Given the description of an element on the screen output the (x, y) to click on. 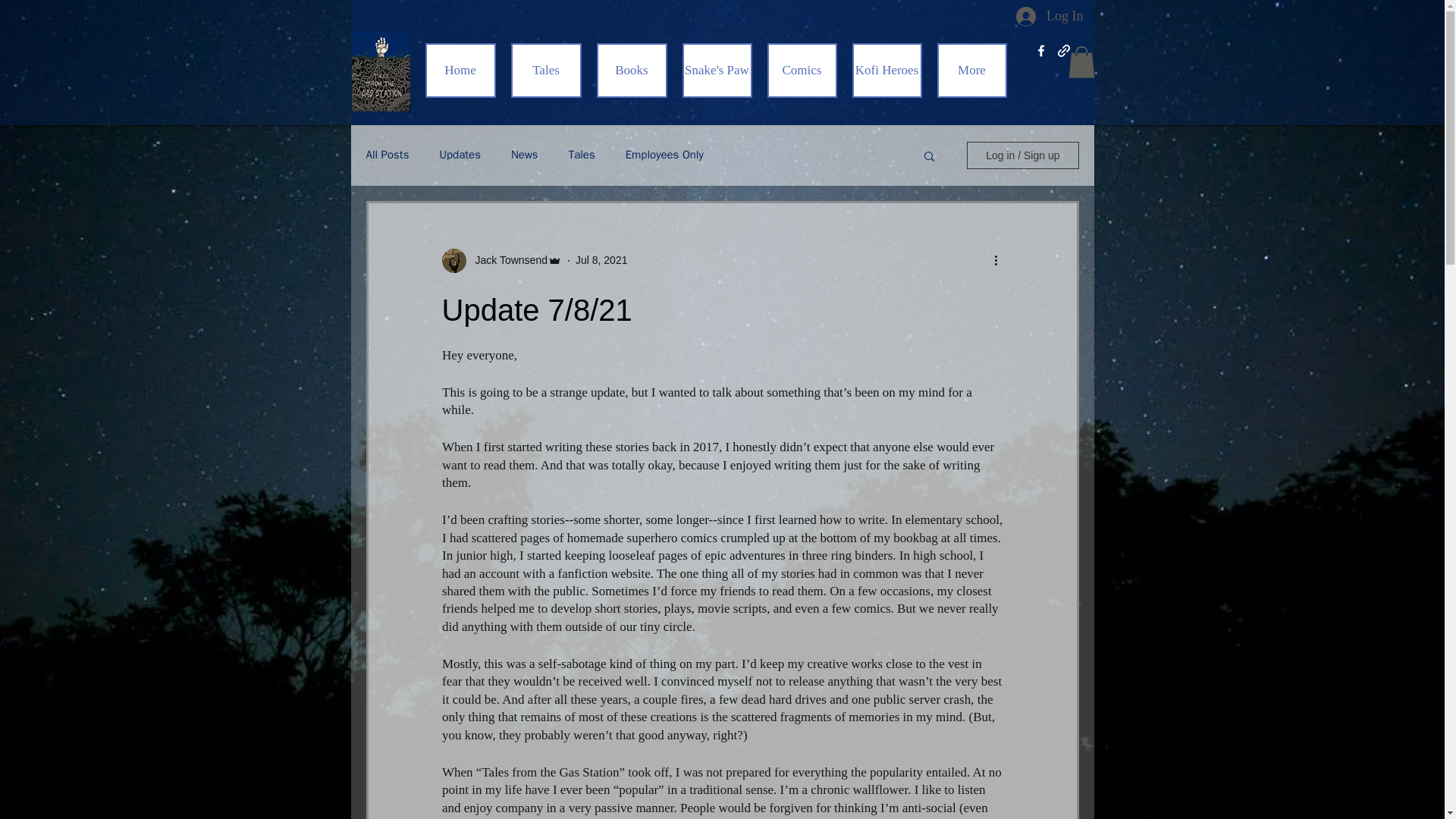
Tales (545, 70)
Jack Townsend (500, 260)
Home (460, 70)
Jack Townsend (506, 260)
Kofi Heroes (886, 70)
Comics (802, 70)
Jul 8, 2021 (601, 259)
Log In (1050, 16)
Tales (582, 155)
Updates (459, 155)
Books (630, 70)
All Posts (387, 155)
News (524, 155)
Employees Only (664, 155)
Snake's Paw (717, 70)
